Given the description of an element on the screen output the (x, y) to click on. 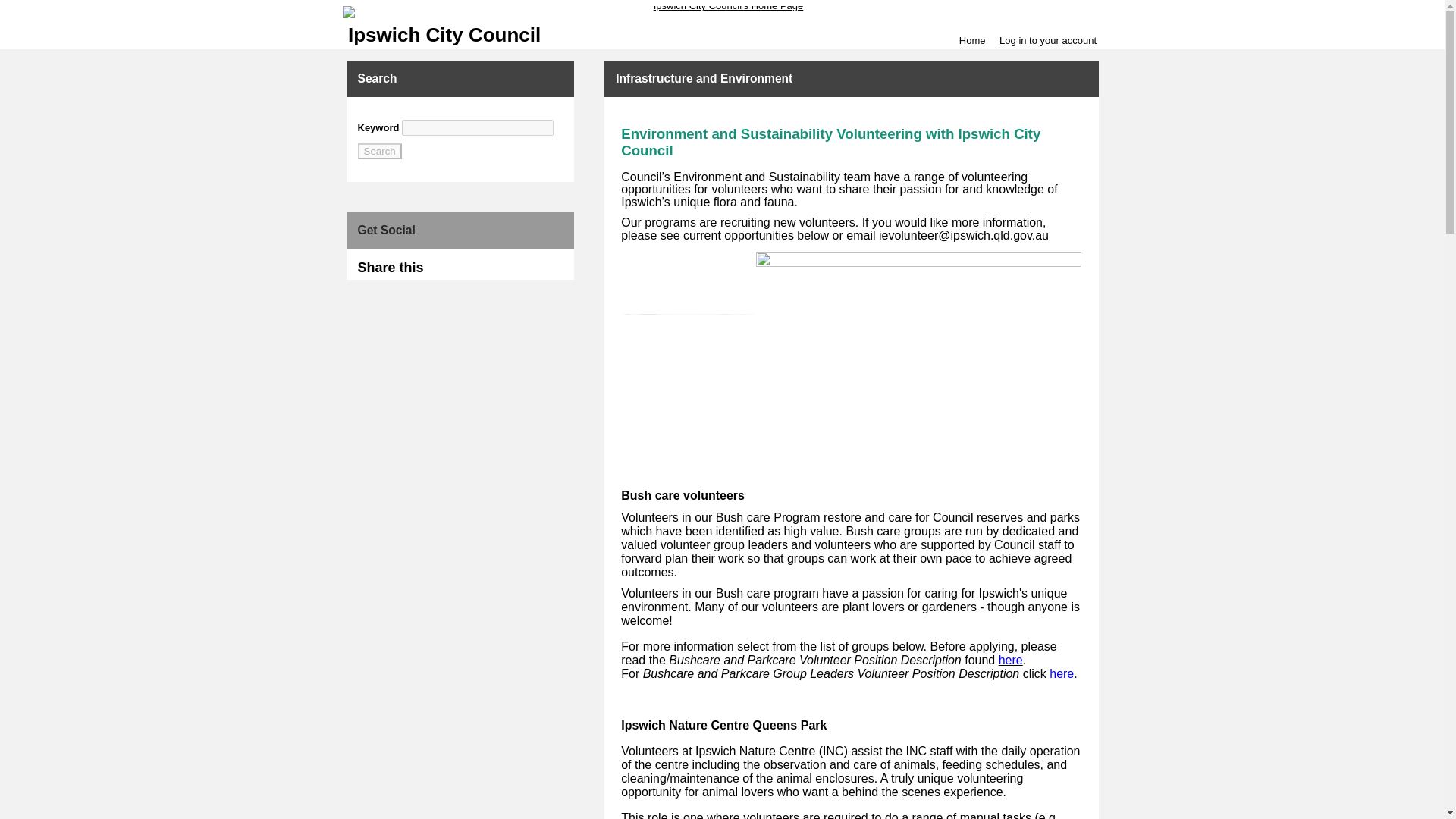
Keyword (477, 127)
Ipswich City Council's Home Page (722, 11)
Log in to your account (1047, 40)
Skip Search Section (402, 113)
Home (972, 40)
Search (379, 150)
Search (379, 150)
